Given the description of an element on the screen output the (x, y) to click on. 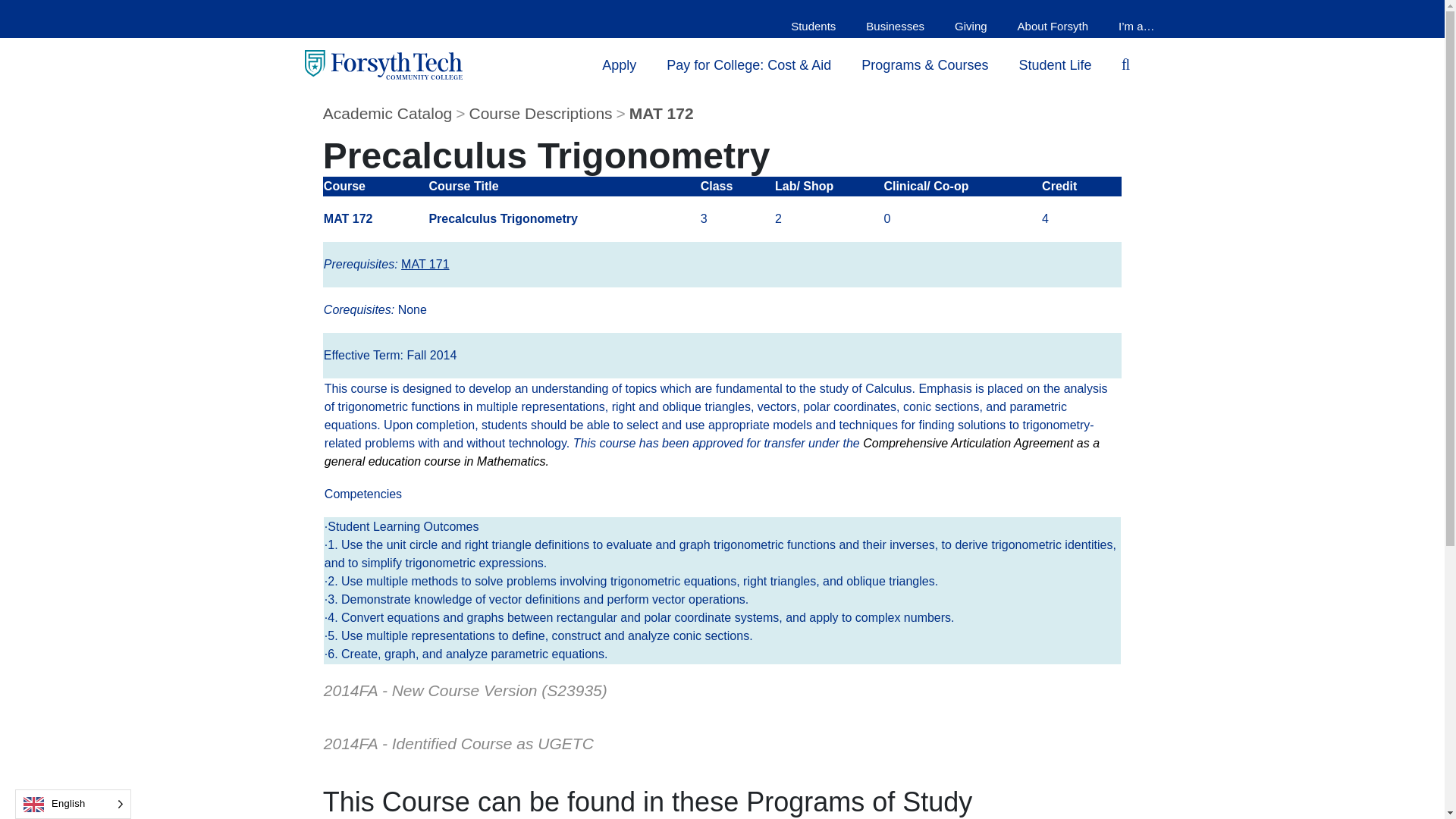
Apply (618, 64)
Student Life (1054, 64)
Students (813, 26)
Giving (970, 26)
Businesses (894, 26)
About Forsyth (1052, 26)
